Given the description of an element on the screen output the (x, y) to click on. 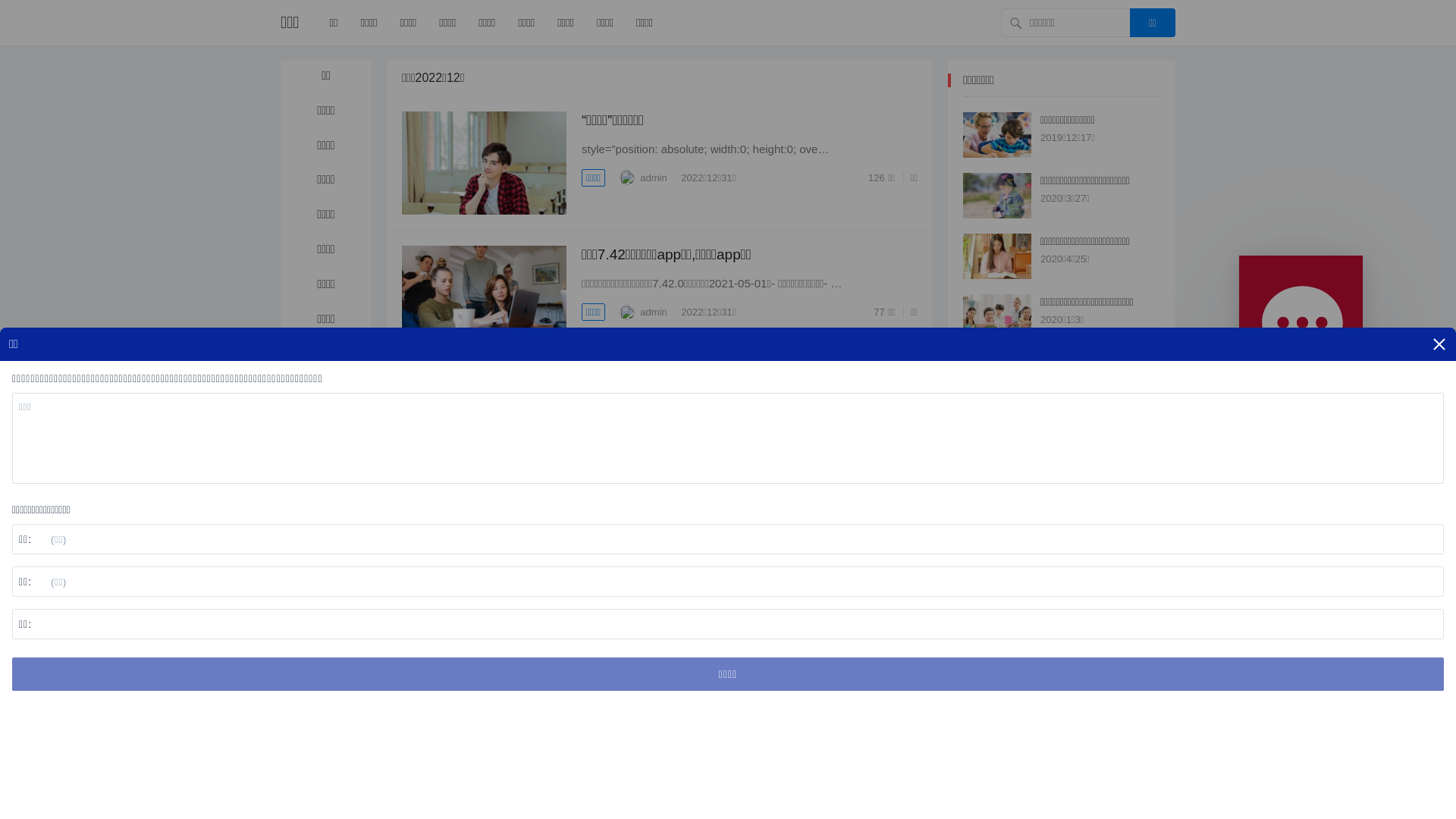
admin Element type: text (644, 580)
admin Element type: text (644, 311)
admin Element type: text (644, 715)
admin Element type: text (644, 177)
admin Element type: text (644, 446)
